Given the description of an element on the screen output the (x, y) to click on. 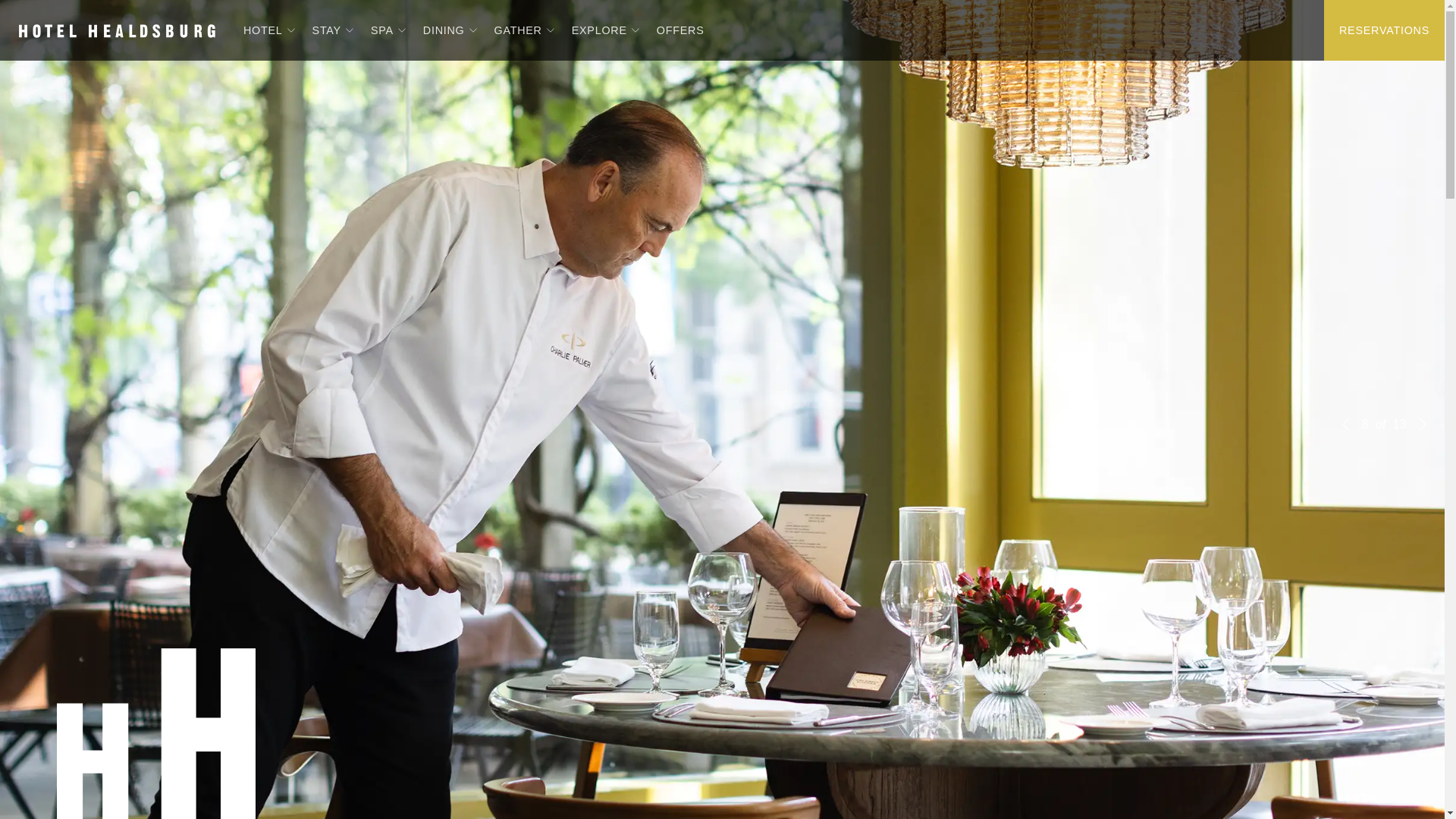
STAY (320, 30)
SPA (376, 30)
HOTEL (256, 30)
